Given the description of an element on the screen output the (x, y) to click on. 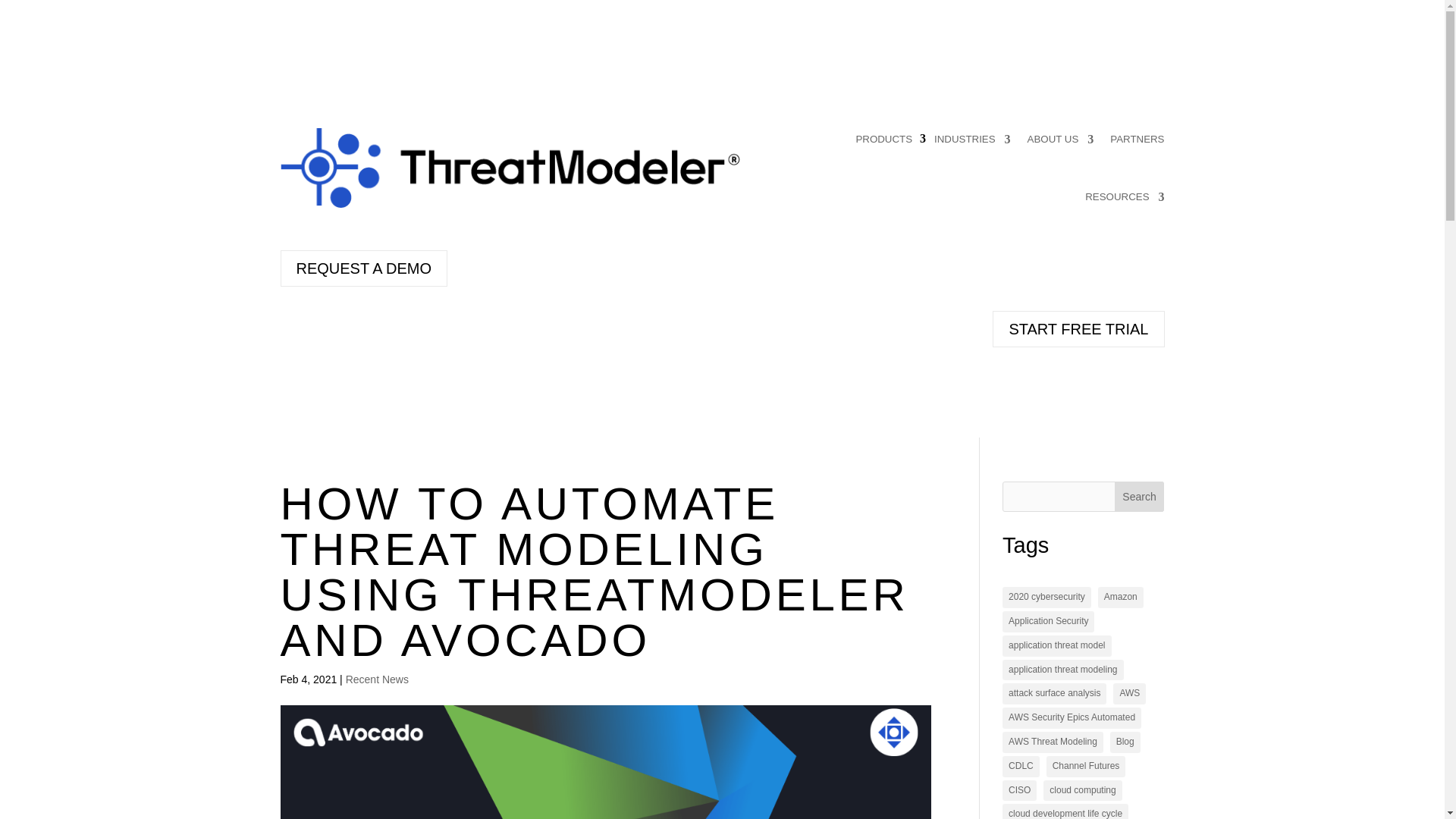
PRODUCTS (884, 139)
Search (1139, 496)
Application Security (1048, 621)
START FREE TRIAL (1077, 329)
REQUEST A DEMO (364, 268)
INDUSTRIES (972, 139)
PARTNERS (1136, 139)
ABOUT US (1060, 139)
RESOURCES (1123, 197)
2020 cybersecurity (1046, 597)
